Given the description of an element on the screen output the (x, y) to click on. 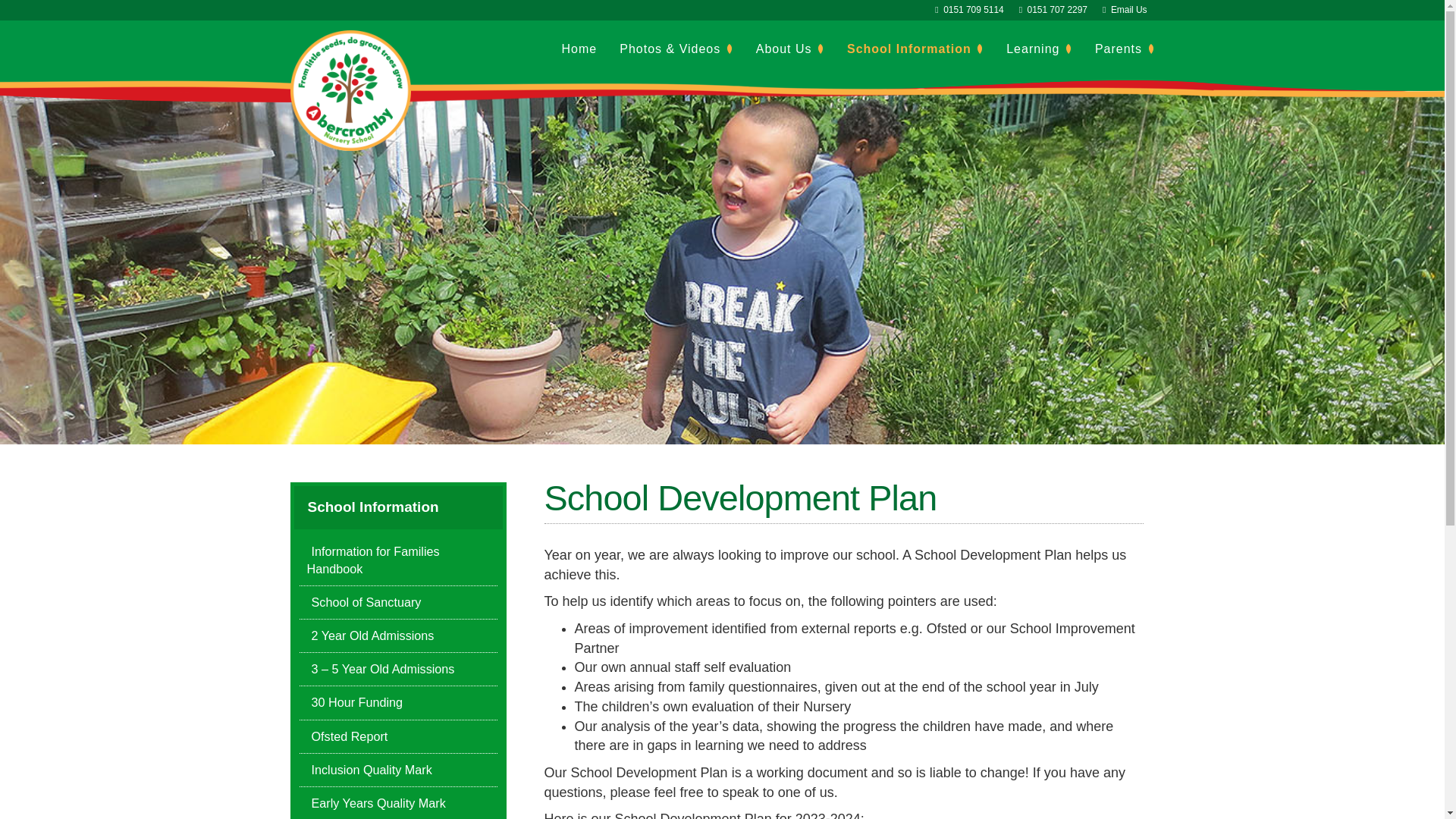
Learning (1038, 49)
  0151 709 5114 (974, 10)
School Information (914, 49)
Home (579, 48)
About Us (789, 49)
  Email Us (1130, 10)
  0151 707 2297 (1059, 10)
